Given the description of an element on the screen output the (x, y) to click on. 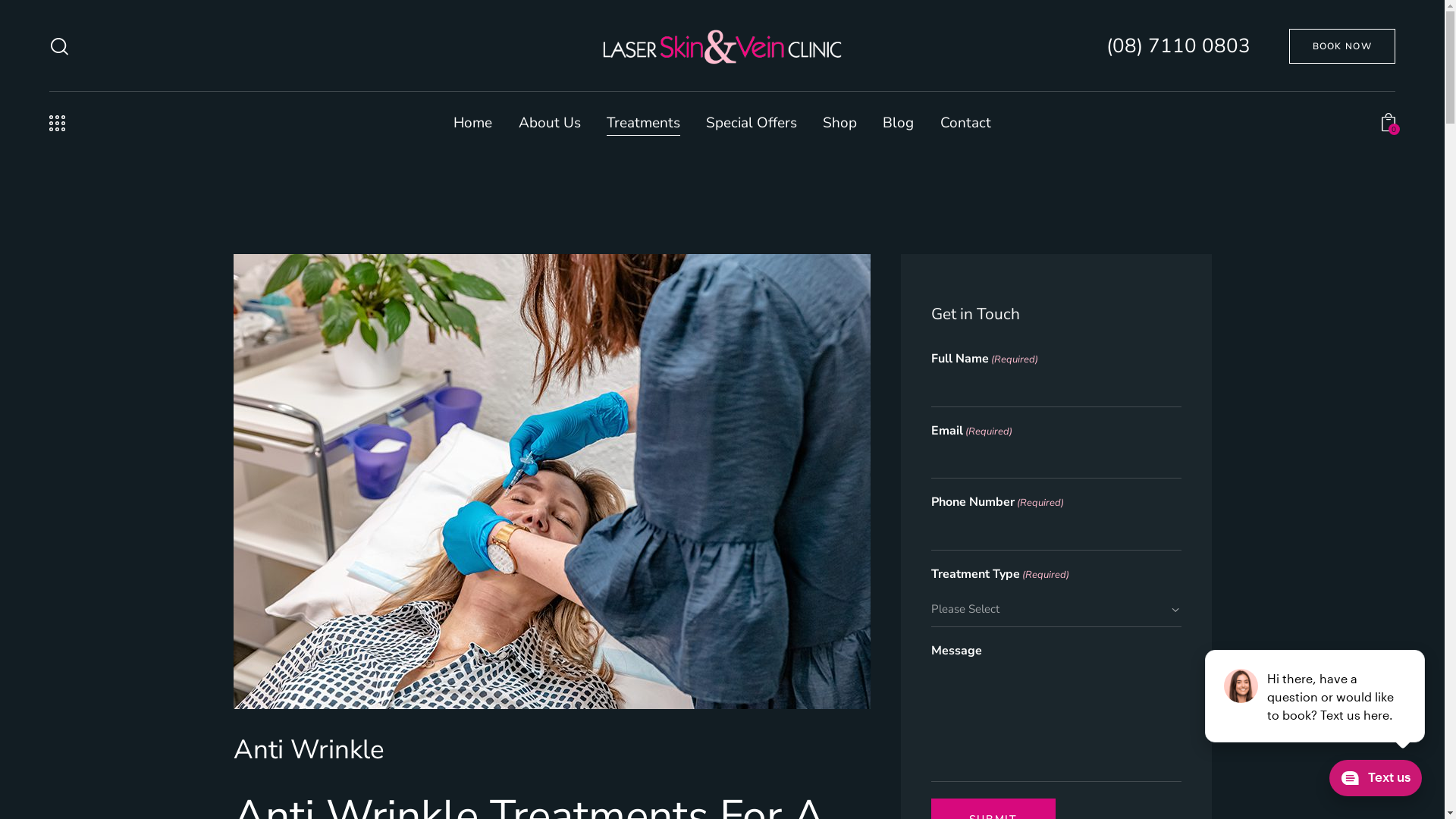
Shop Element type: text (839, 123)
Treatments Element type: text (643, 123)
podium webchat widget prompt Element type: hover (1315, 696)
Blog Element type: text (897, 123)
Special Offers Element type: text (751, 123)
Contact Element type: text (964, 123)
About Us Element type: text (549, 123)
BOOK NOW Element type: text (1342, 45)
Home Element type: text (472, 123)
(08) 7110 0803 Element type: text (1178, 45)
